Given the description of an element on the screen output the (x, y) to click on. 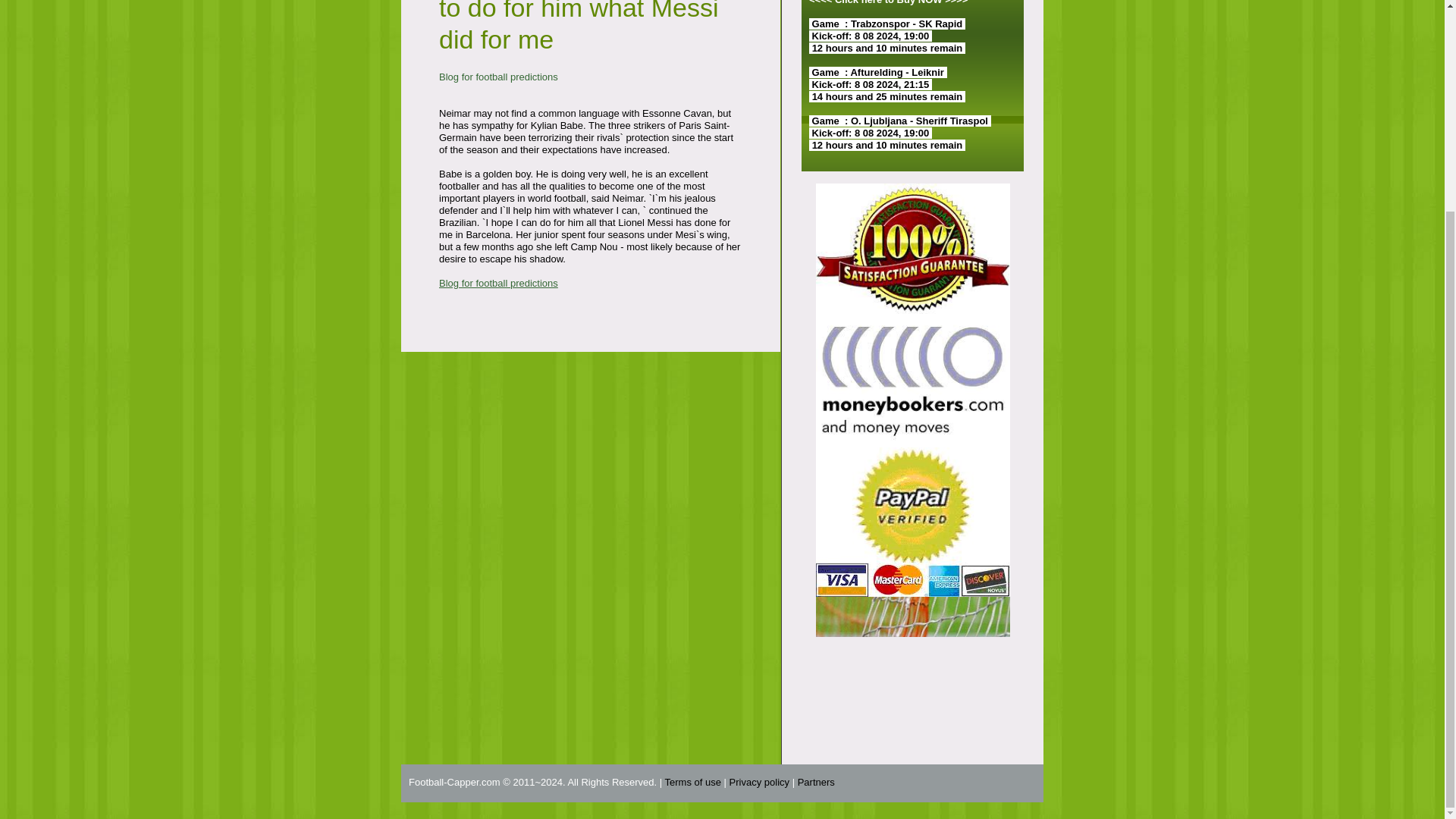
Privacy policy (759, 781)
Terms of use (692, 781)
Blog for football predictions (498, 283)
Pay with Moneybookers for football tip (912, 443)
Pay with PayPal for football tip (912, 593)
Partners (815, 781)
Blog for football predictions (498, 76)
